Given the description of an element on the screen output the (x, y) to click on. 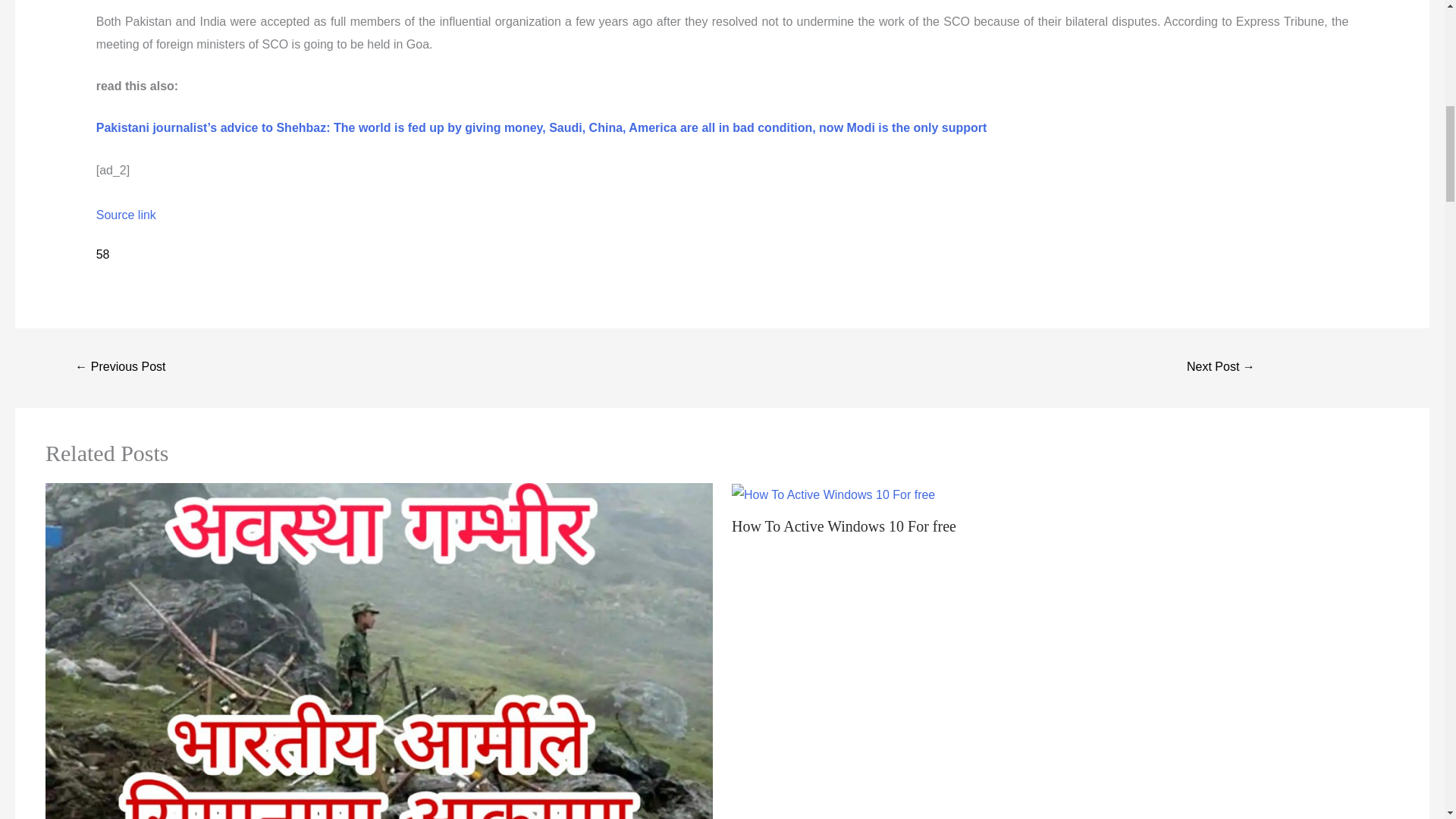
How To Active Windows 10 For free (833, 495)
Source link (125, 214)
How To Active Windows 10 For free (844, 525)
